Given the description of an element on the screen output the (x, y) to click on. 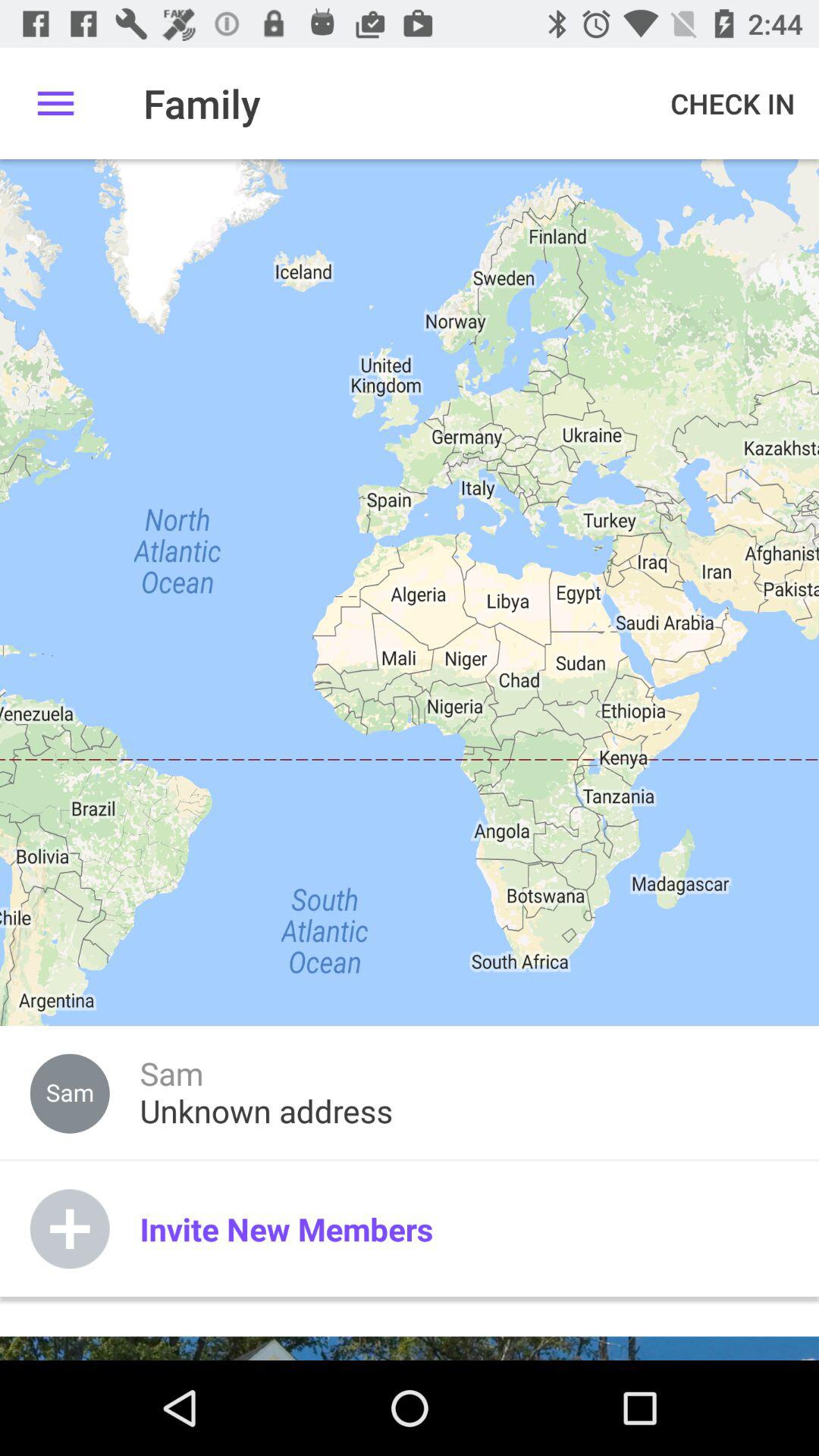
turn off the item at the center (409, 759)
